Given the description of an element on the screen output the (x, y) to click on. 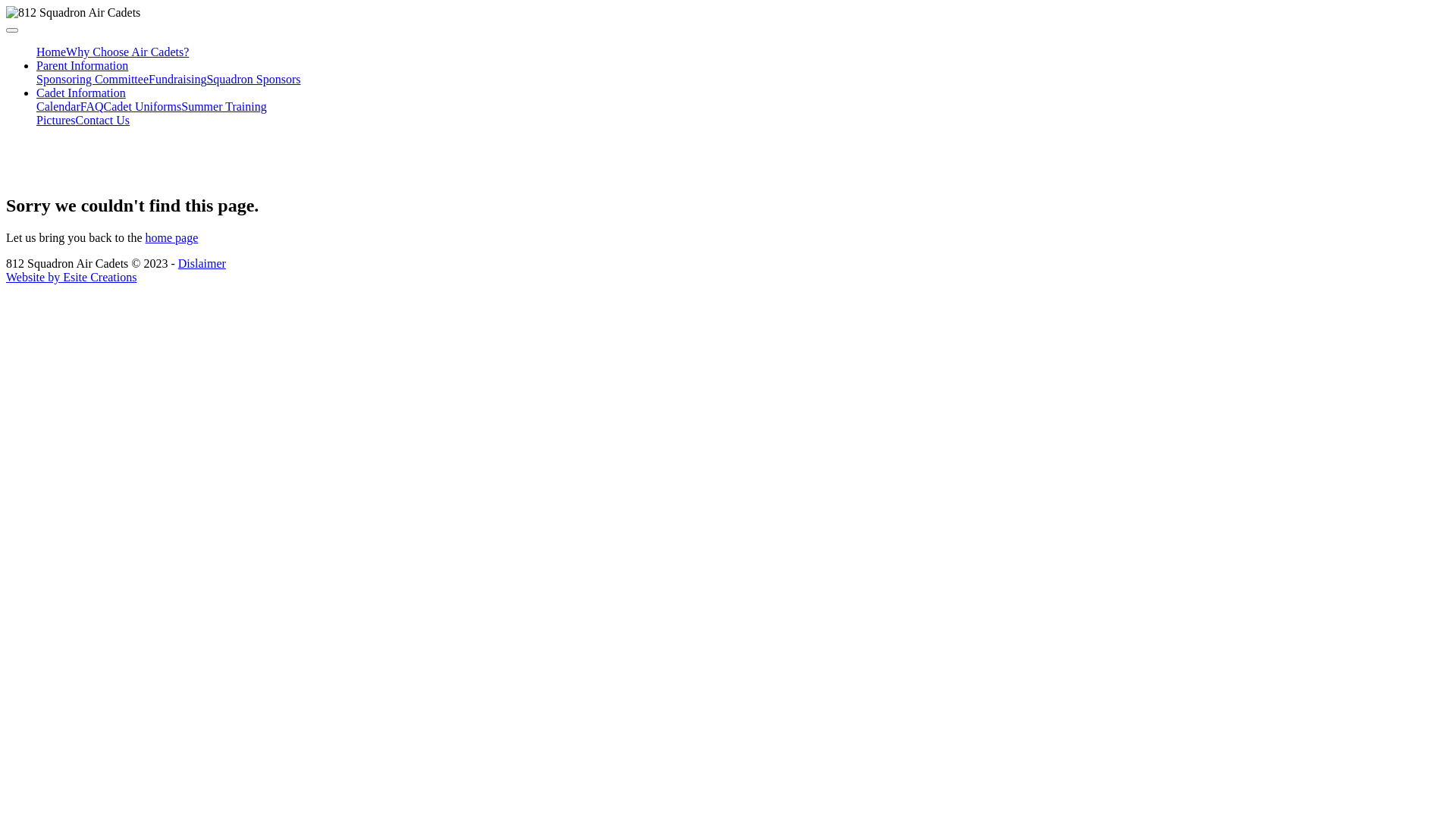
Website by Esite Creations Element type: text (71, 276)
Fundraising Element type: text (177, 78)
Sponsoring Committee Element type: text (92, 78)
Calendar Element type: text (58, 106)
Summer Training Element type: text (223, 106)
Squadron Sponsors Element type: text (253, 78)
Why Choose Air Cadets? Element type: text (126, 51)
Contact Us Element type: text (102, 119)
Parent Information Element type: text (82, 65)
Pictures Element type: text (55, 119)
Cadet Uniforms Element type: text (142, 106)
home page Element type: text (171, 237)
Dislaimer Element type: text (201, 263)
Home Element type: text (50, 51)
FAQ Element type: text (91, 106)
Cadet Information Element type: text (80, 92)
